Given the description of an element on the screen output the (x, y) to click on. 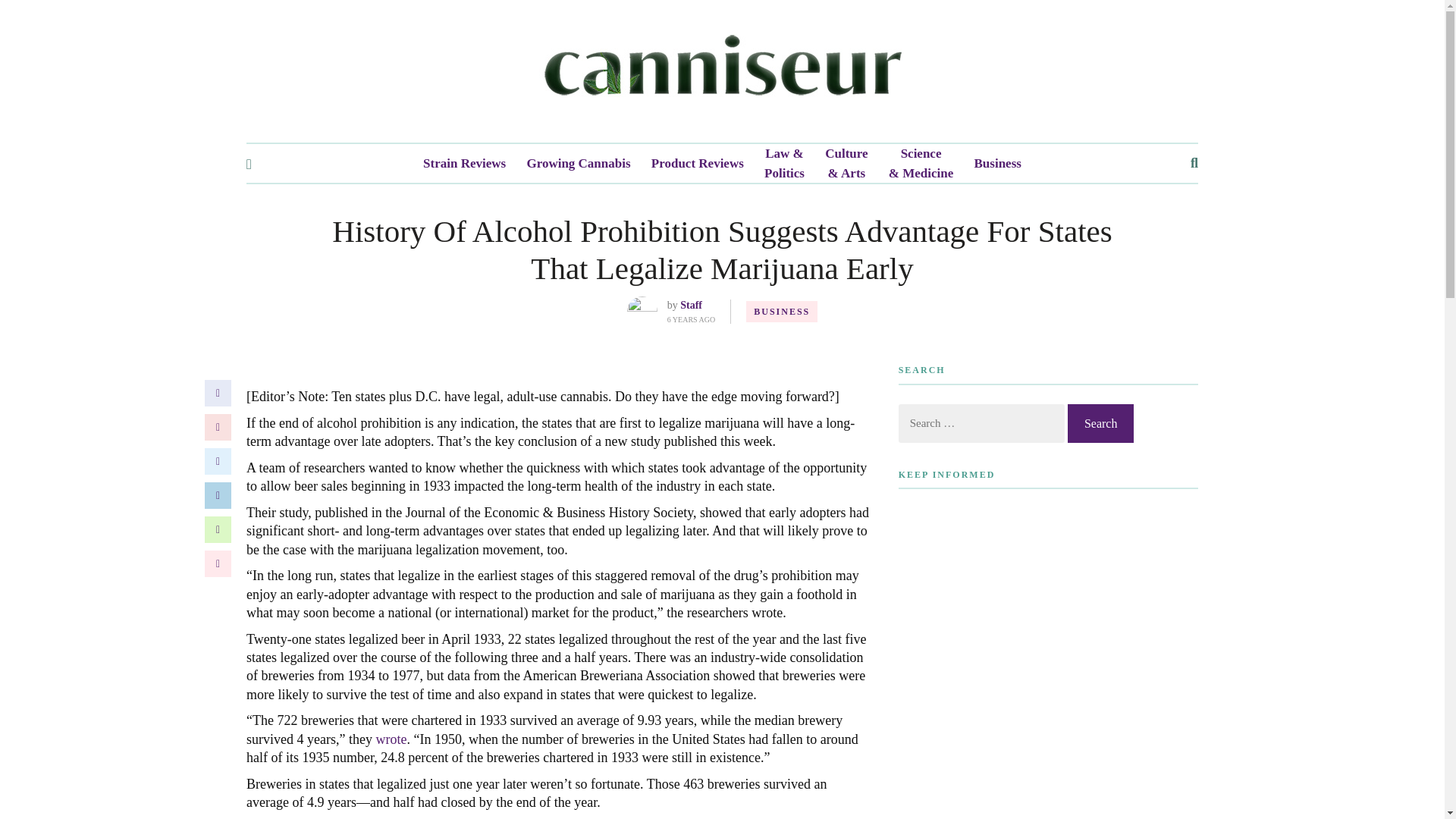
Product Reviews (697, 163)
Staff (690, 305)
Business (998, 163)
wrote (390, 739)
Search (1100, 423)
BUSINESS (780, 311)
Search (1100, 423)
Canniseur (721, 71)
Growing Cannabis (577, 163)
Strain Reviews (464, 163)
